Given the description of an element on the screen output the (x, y) to click on. 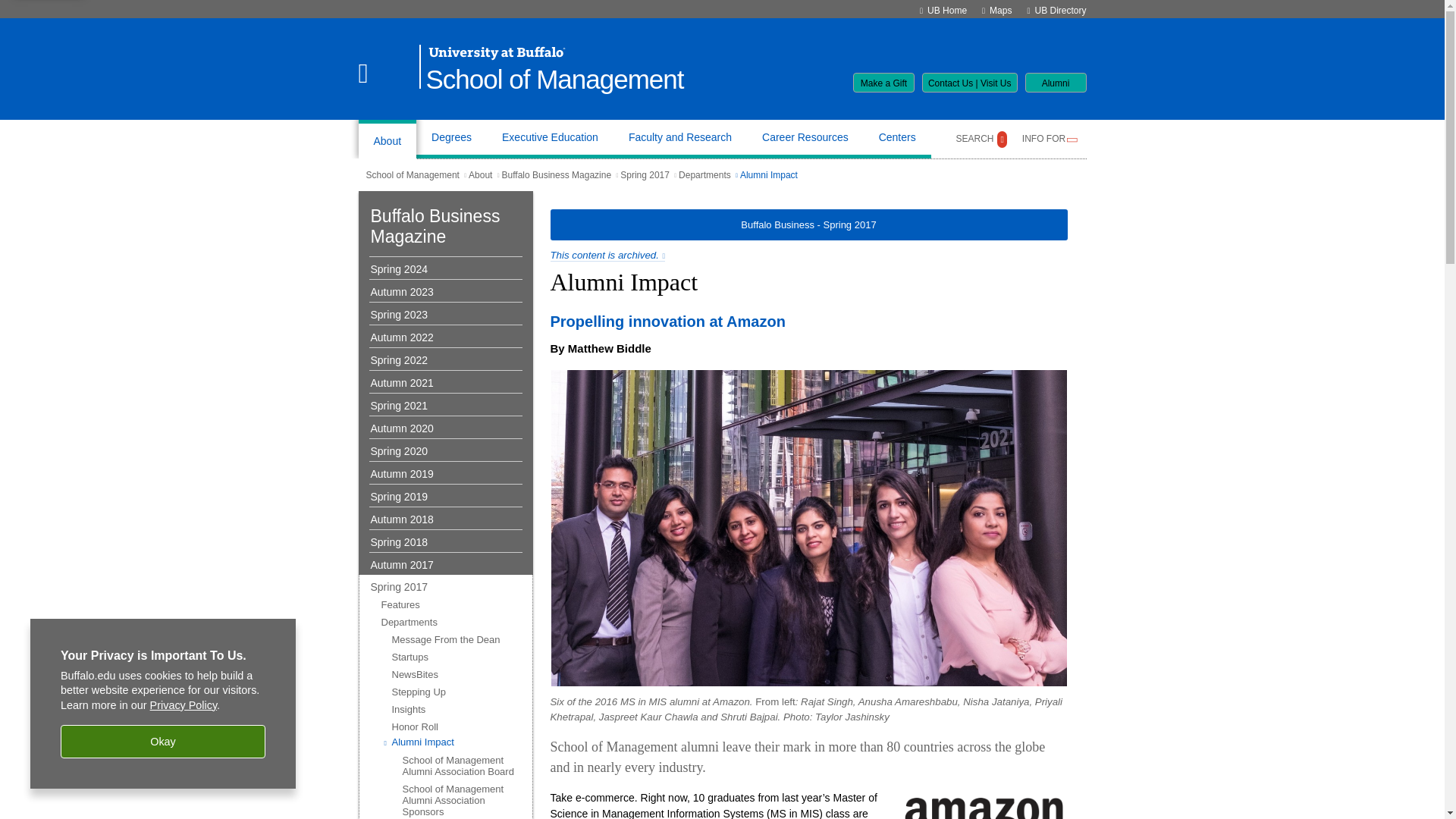
UB Directory (1059, 9)
Degrees (452, 138)
This link opens a page in a new window or tab. (607, 255)
About (386, 138)
UB Home (946, 9)
School of Management (555, 79)
Alumni (1055, 82)
Maps (1000, 9)
Make a Gift (883, 82)
